Given the description of an element on the screen output the (x, y) to click on. 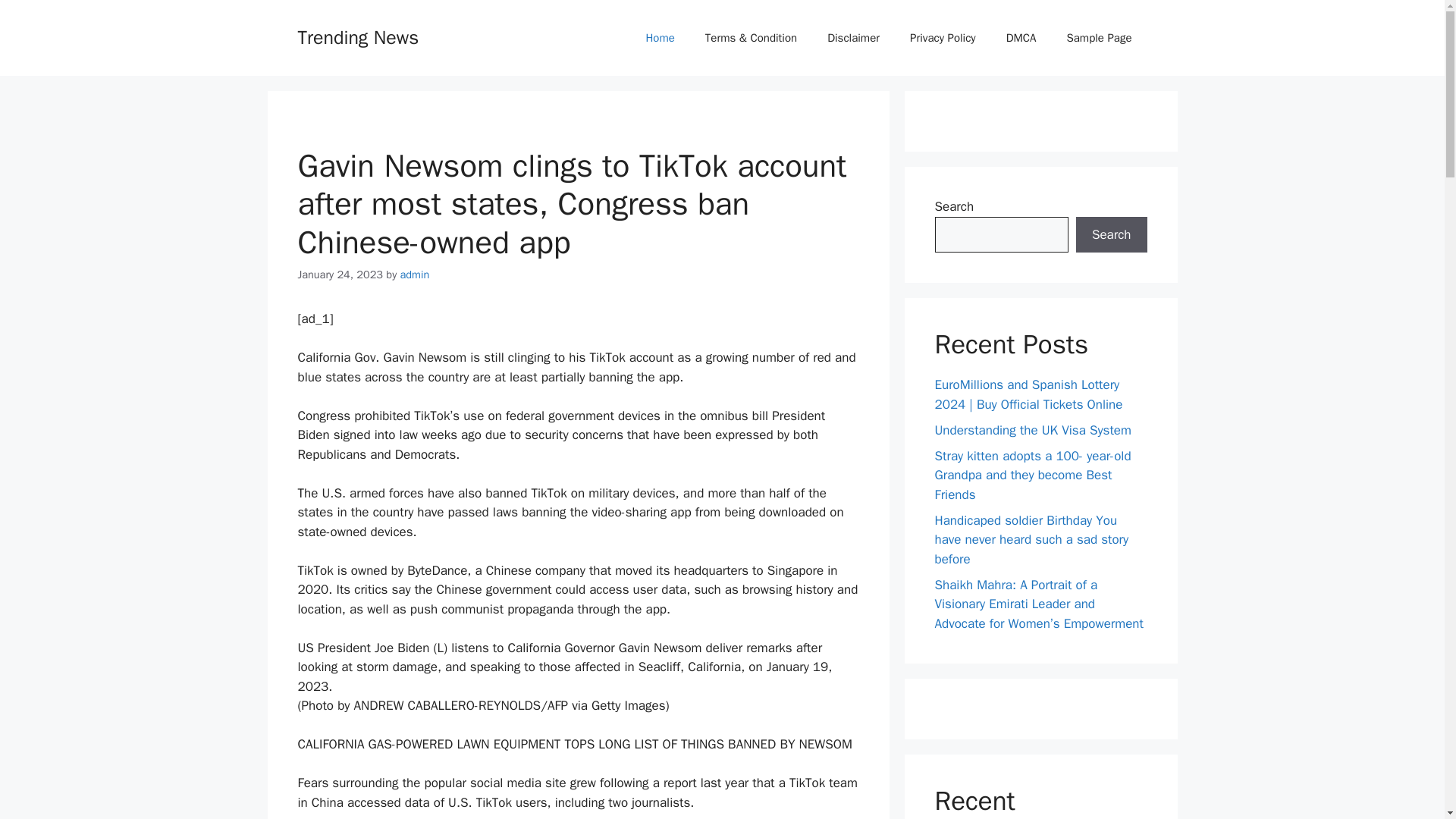
Trending News (358, 37)
admin (414, 274)
Sample Page (1099, 37)
Home (659, 37)
Privacy Policy (943, 37)
Understanding the UK Visa System (1032, 429)
Disclaimer (853, 37)
View all posts by admin (414, 274)
